Given the description of an element on the screen output the (x, y) to click on. 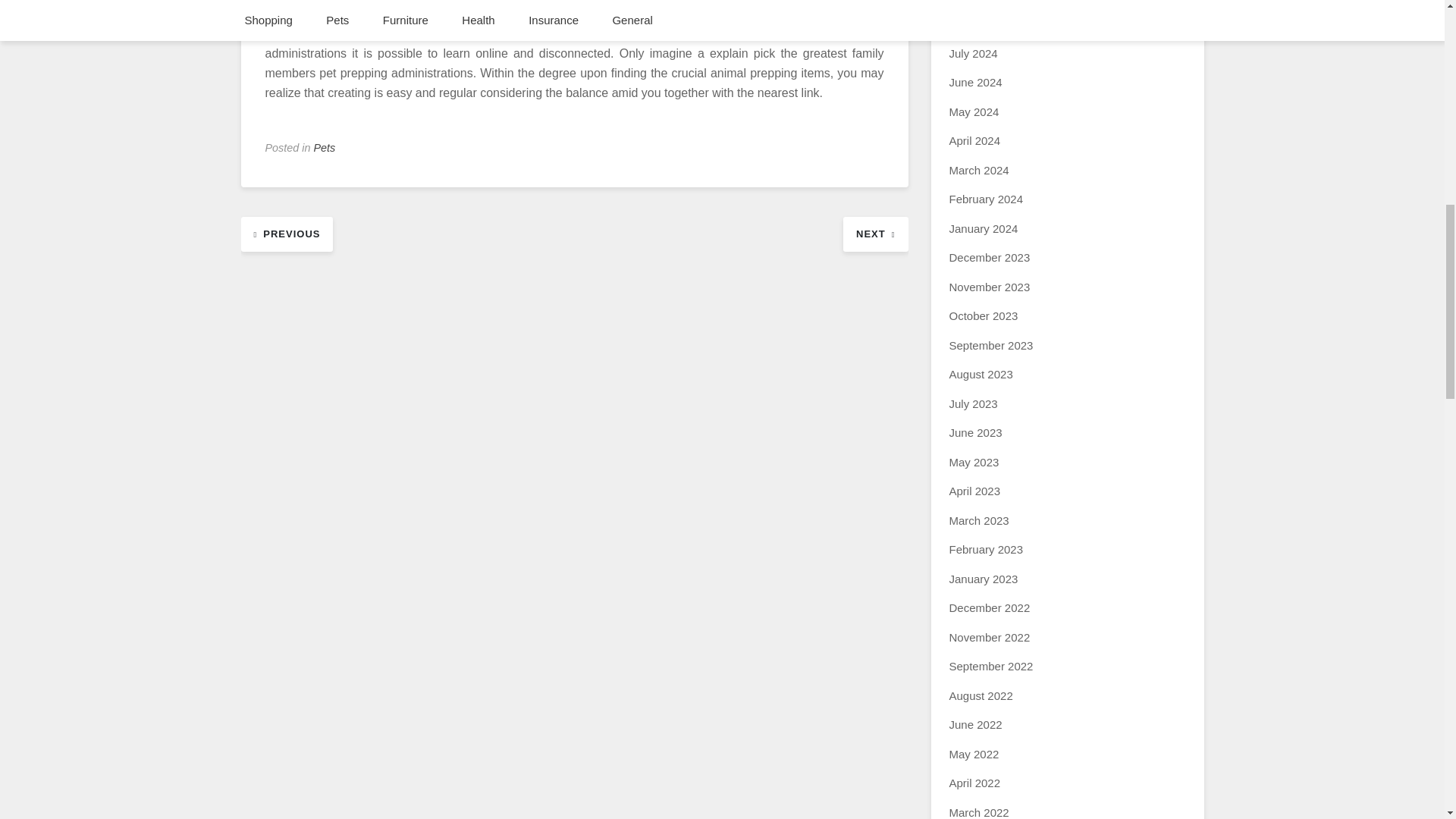
October 2023 (983, 315)
June 2024 (976, 82)
June 2023 (976, 431)
May 2024 (973, 111)
September 2023 (991, 345)
NEXT (875, 232)
May 2023 (973, 461)
July 2023 (973, 403)
July 2024 (973, 52)
March 2024 (979, 169)
January 2024 (983, 228)
November 2023 (989, 286)
PREVIOUS (287, 232)
December 2023 (989, 256)
Pets (325, 147)
